Given the description of an element on the screen output the (x, y) to click on. 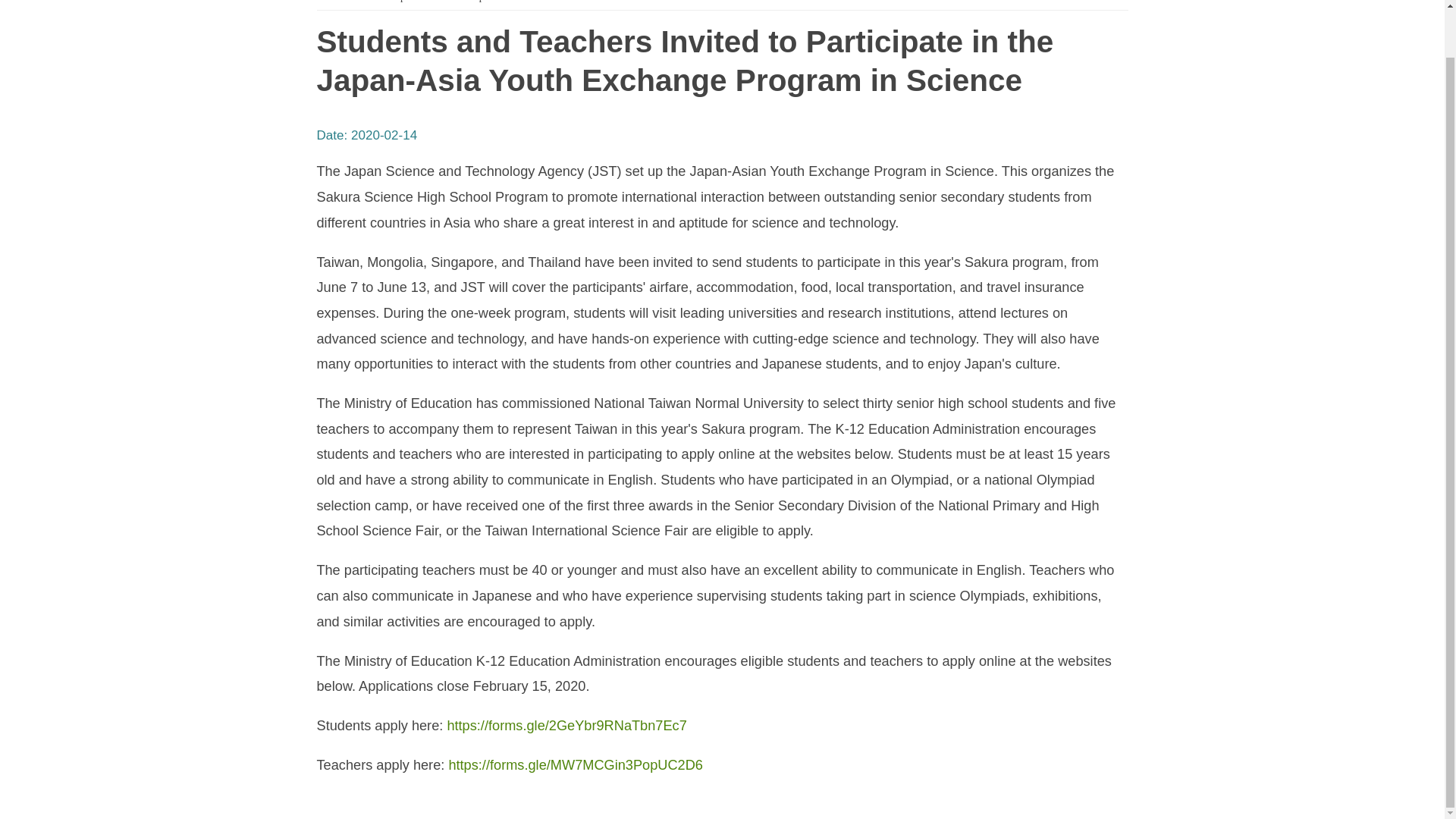
News Updates (475, 1)
Home (333, 1)
News Updates (396, 1)
News Updates (396, 1)
Home (333, 1)
News Updates (475, 1)
